Given the description of an element on the screen output the (x, y) to click on. 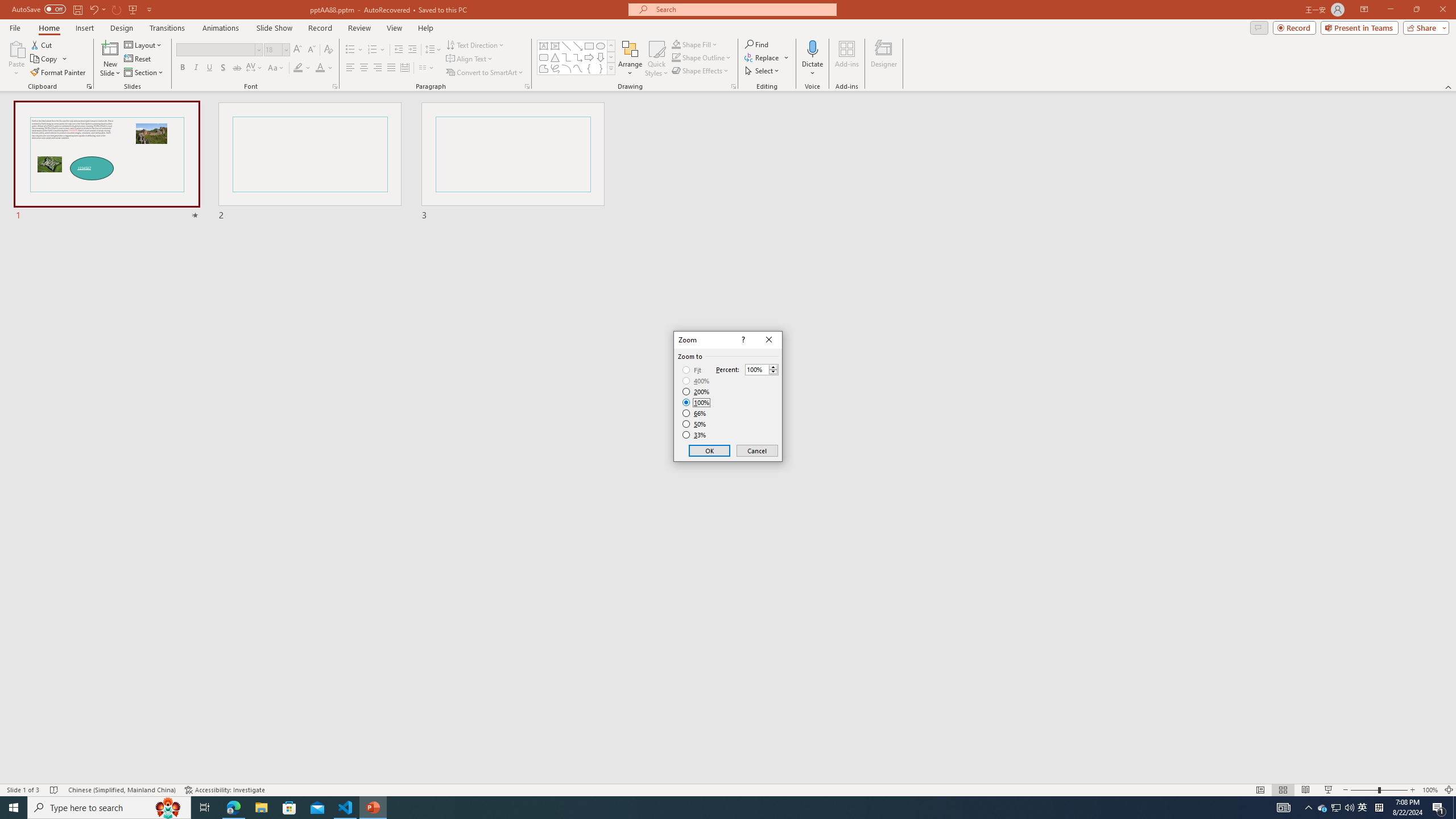
50% (694, 424)
